Given the description of an element on the screen output the (x, y) to click on. 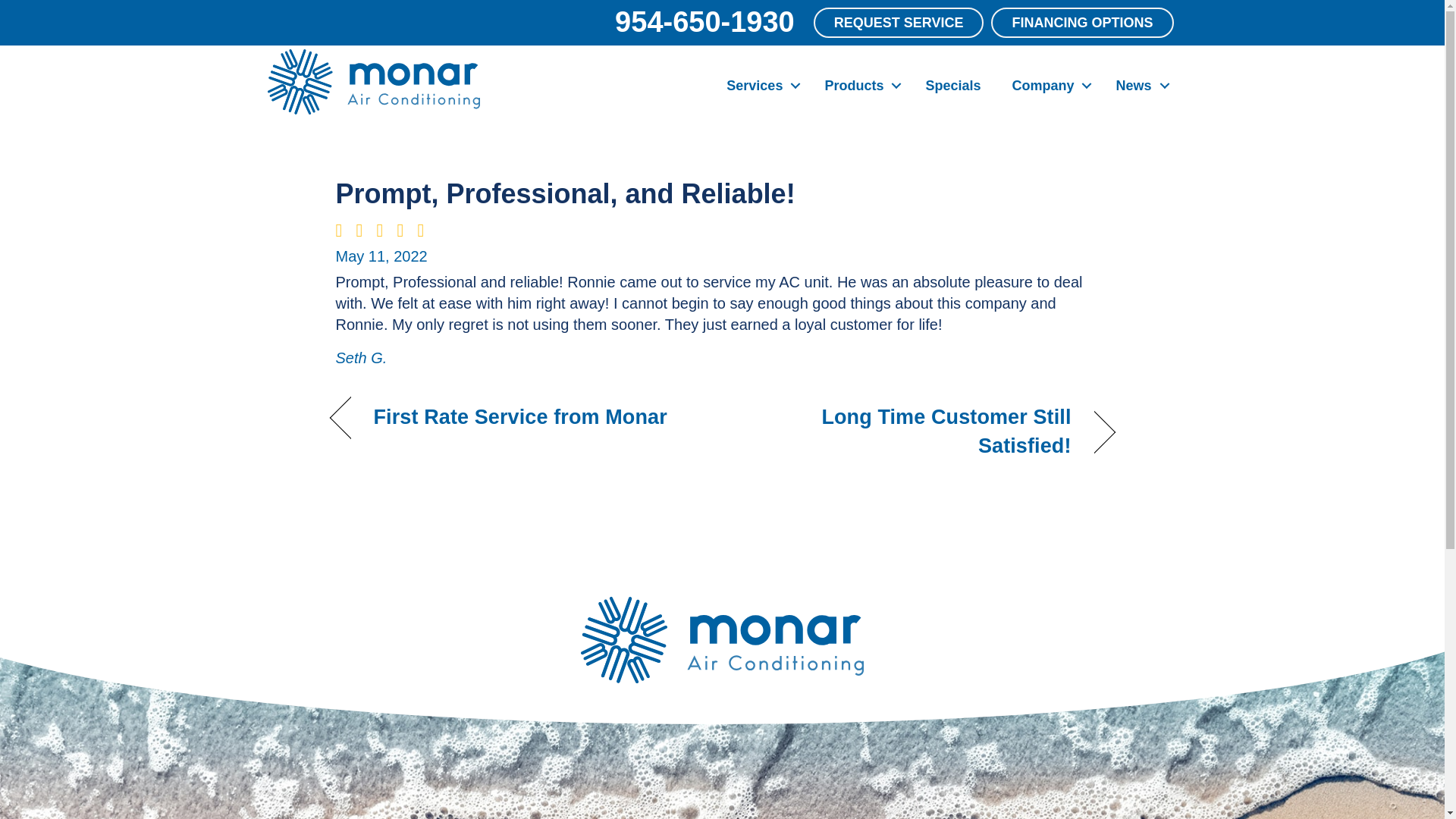
Products (858, 85)
Specials (952, 85)
News (1138, 85)
Company (1047, 85)
954-650-1930 (704, 21)
MAI Logo-RGB (721, 640)
FINANCING OPTIONS (1082, 22)
MAI Logo-RGB (372, 81)
Services (759, 85)
REQUEST SERVICE (898, 22)
